Given the description of an element on the screen output the (x, y) to click on. 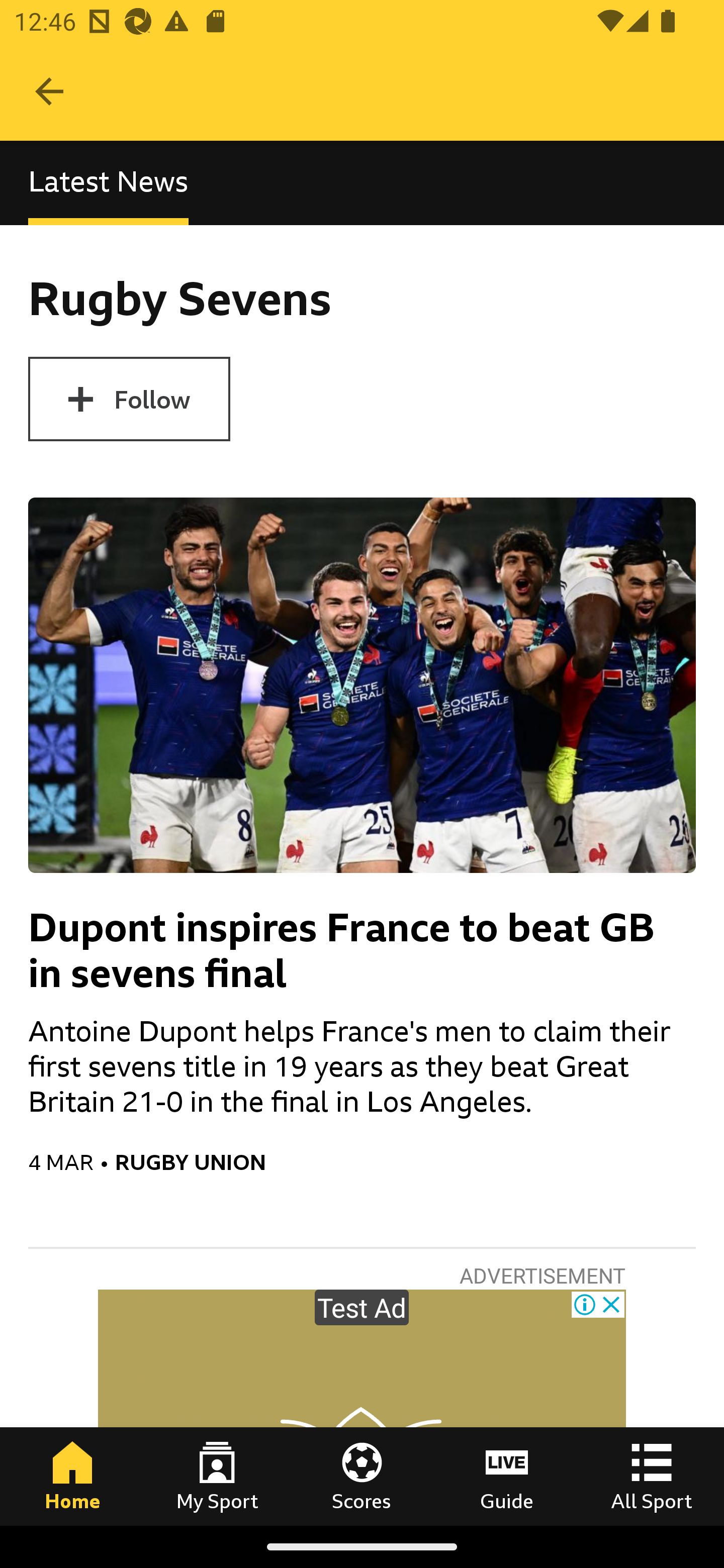
Navigate up (49, 91)
Latest News, selected Latest News (108, 183)
Follow Rugby Sevens Follow (129, 398)
My Sport (216, 1475)
Scores (361, 1475)
Guide (506, 1475)
All Sport (651, 1475)
